Given the description of an element on the screen output the (x, y) to click on. 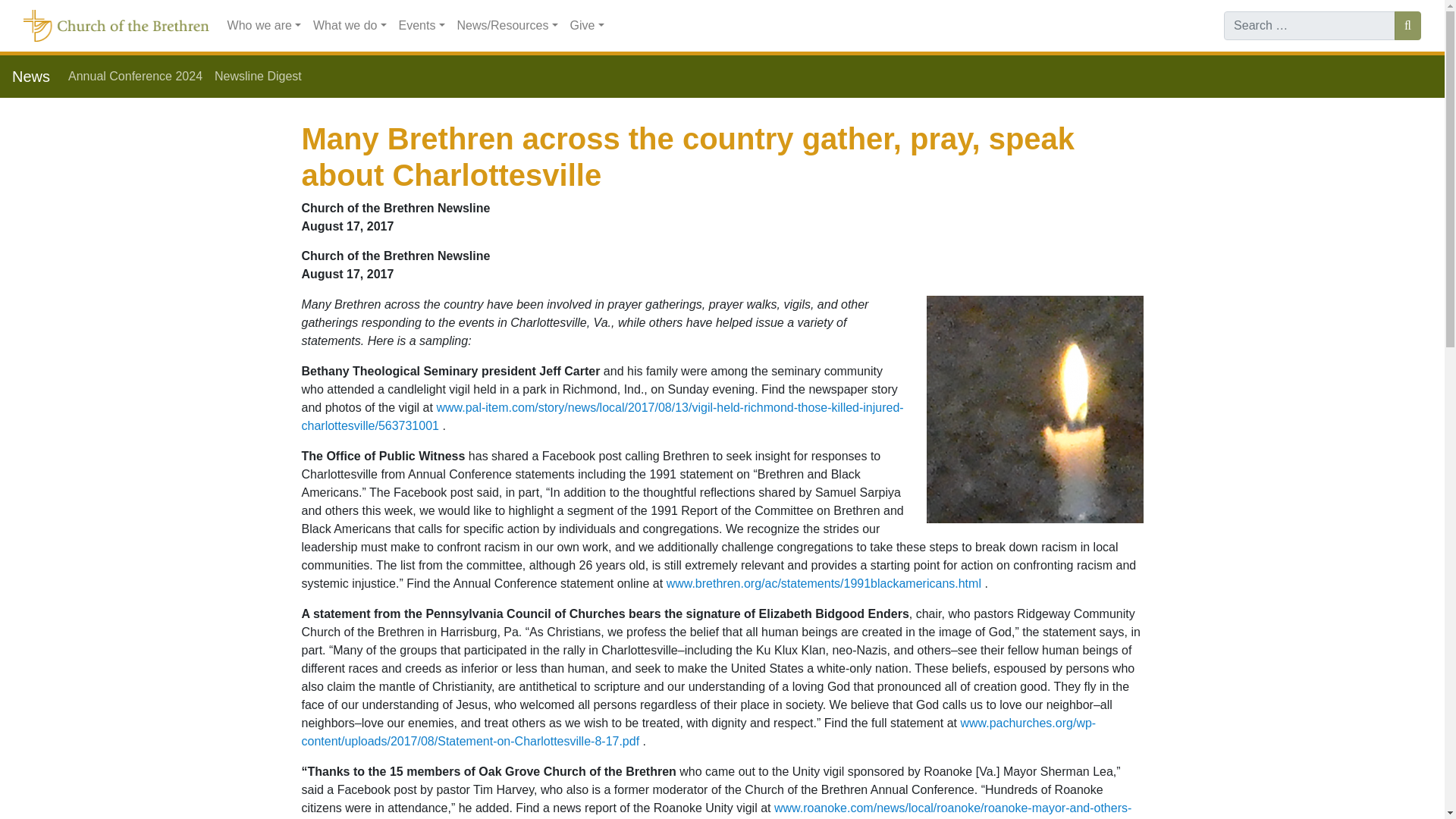
What we do (350, 25)
Events (422, 25)
Who we are (264, 25)
What we do (350, 25)
Who we are (264, 25)
